Given the description of an element on the screen output the (x, y) to click on. 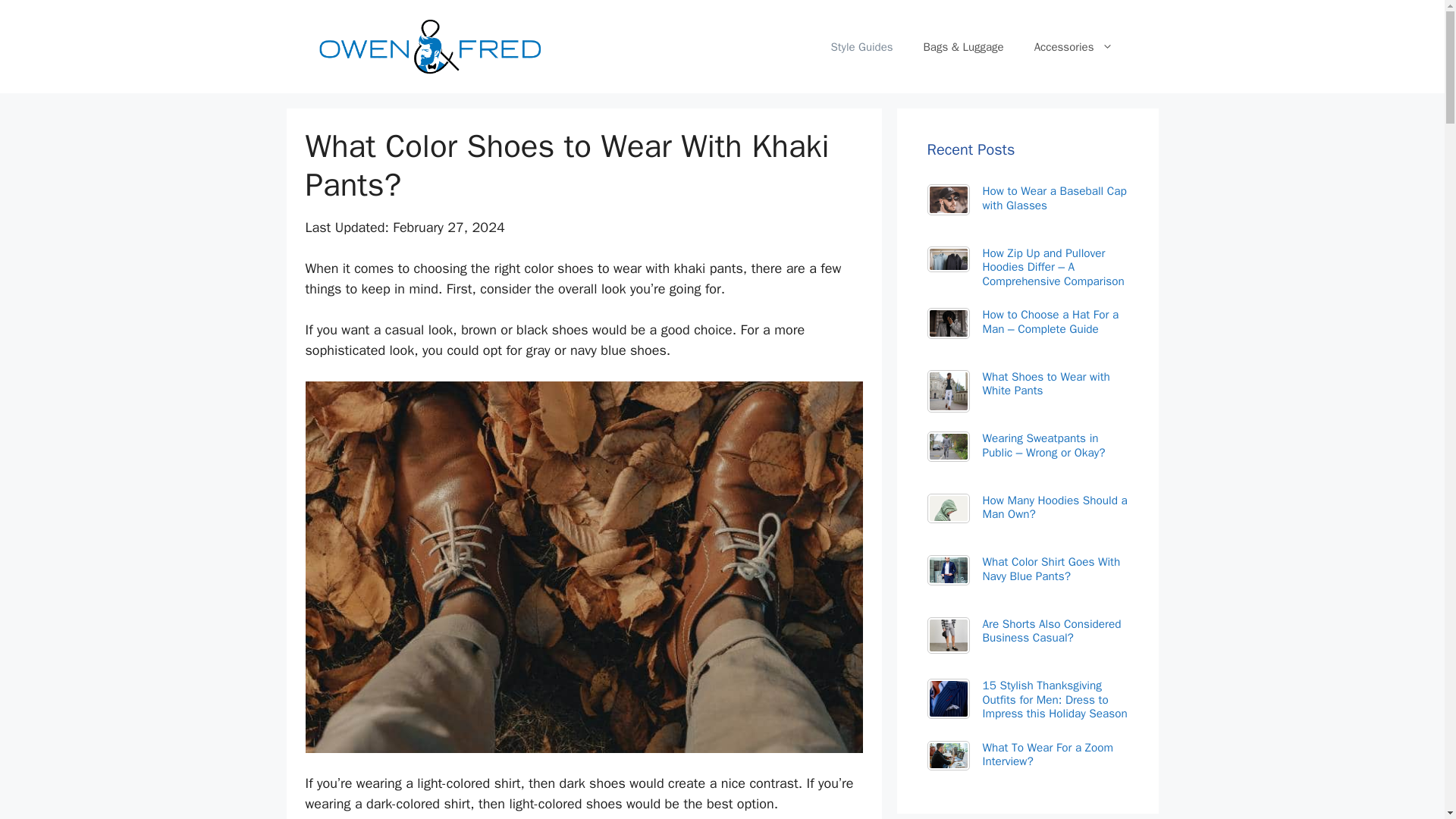
Style Guides (861, 46)
How to Wear a Baseball Cap with Glasses (1054, 197)
What Shoes to Wear with White Pants (1045, 383)
Accessories (1073, 46)
